Given the description of an element on the screen output the (x, y) to click on. 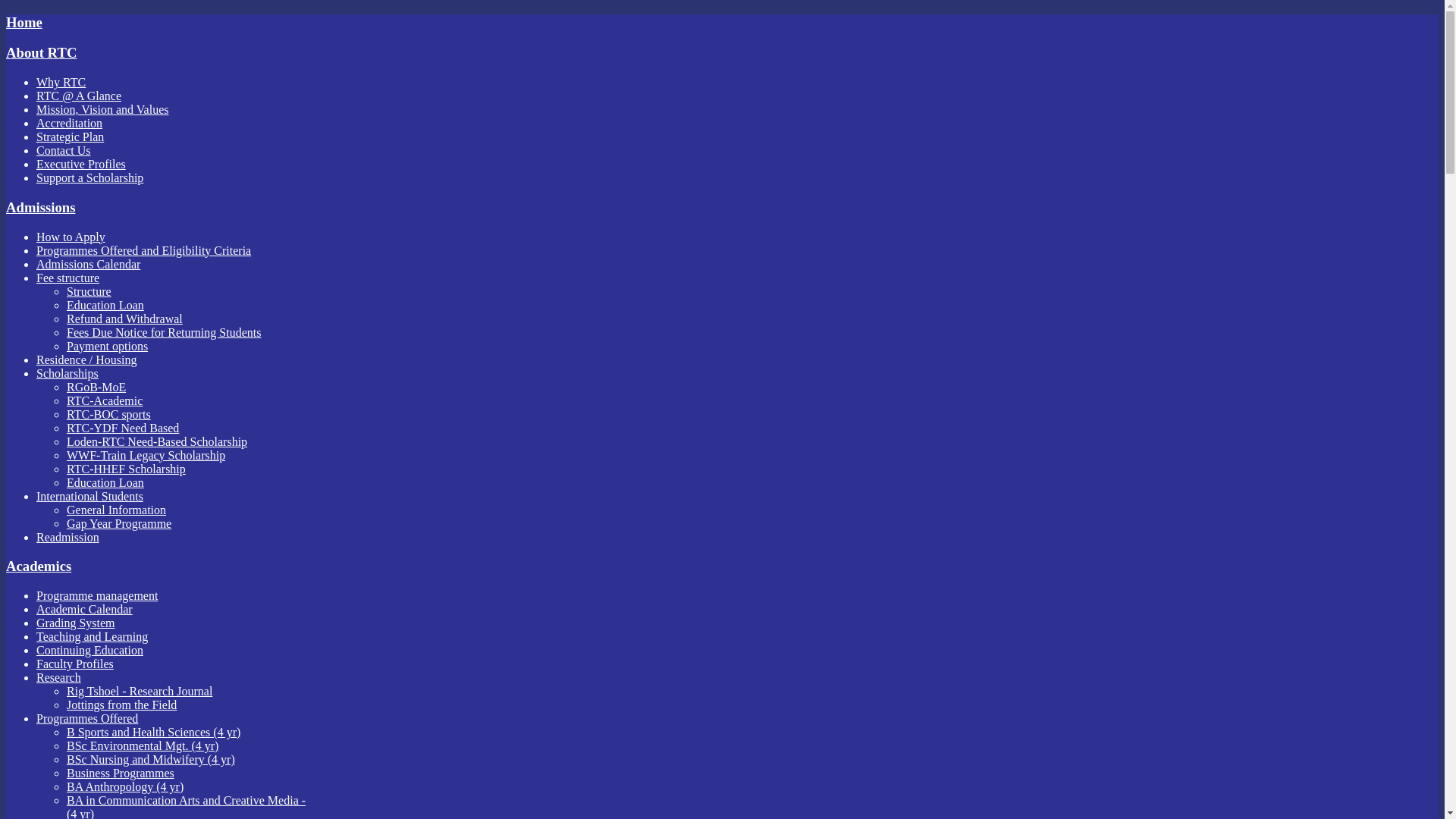
Scholarships Element type: text (67, 373)
Fee structure Element type: text (67, 277)
Structure Element type: text (88, 291)
RTC-Academic Element type: text (104, 400)
Education Loan Element type: text (105, 482)
Refund and Withdrawal Element type: text (124, 318)
RTC-YDF Need Based Element type: text (122, 427)
Programmes Offered and Eligibility Criteria Element type: text (143, 250)
B Sports and Health Sciences (4 yr) Element type: text (153, 731)
RTC @ A Glance Element type: text (78, 95)
Continuing Education Element type: text (89, 649)
Admissions Calendar Element type: text (88, 263)
BA Anthropology (4 yr) Element type: text (124, 786)
Home Element type: text (24, 22)
Academics Element type: text (38, 566)
Teaching and Learning Element type: text (91, 636)
RTC-HHEF Scholarship Element type: text (125, 468)
About RTC Element type: text (157, 52)
Gap Year Programme Element type: text (118, 523)
Research Element type: text (58, 677)
Executive Profiles Element type: text (80, 163)
Grading System Element type: text (75, 622)
Rig Tshoel - Research Journal Element type: text (139, 690)
Loden-RTC Need-Based Scholarship Element type: text (156, 441)
BSc Environmental Mgt. (4 yr) Element type: text (142, 745)
Payment options Element type: text (106, 345)
Business Programmes Element type: text (120, 772)
Accreditation Element type: text (69, 122)
RTC-BOC sports Element type: text (108, 413)
International Students Element type: text (89, 495)
Readmission Element type: text (67, 536)
Academic Calendar Element type: text (84, 608)
Programmes Offered Element type: text (87, 718)
Residence / Housing Element type: text (86, 359)
Education Loan Element type: text (105, 304)
Faculty Profiles Element type: text (74, 663)
Strategic Plan Element type: text (69, 136)
Academics Element type: text (157, 566)
Support a Scholarship Element type: text (89, 177)
Why RTC Element type: text (60, 81)
About RTC Element type: text (41, 52)
Admissions Element type: text (40, 207)
How to Apply Element type: text (70, 236)
Mission, Vision and Values Element type: text (102, 109)
Jottings from the Field Element type: text (121, 704)
Fees Due Notice for Returning Students Element type: text (163, 332)
Contact Us Element type: text (63, 150)
RGoB-MoE Element type: text (95, 386)
WWF-Train Legacy Scholarship Element type: text (145, 454)
Admissions Element type: text (157, 207)
BSc Nursing and Midwifery (4 yr) Element type: text (150, 759)
General Information Element type: text (116, 509)
Programme management Element type: text (96, 595)
